Given the description of an element on the screen output the (x, y) to click on. 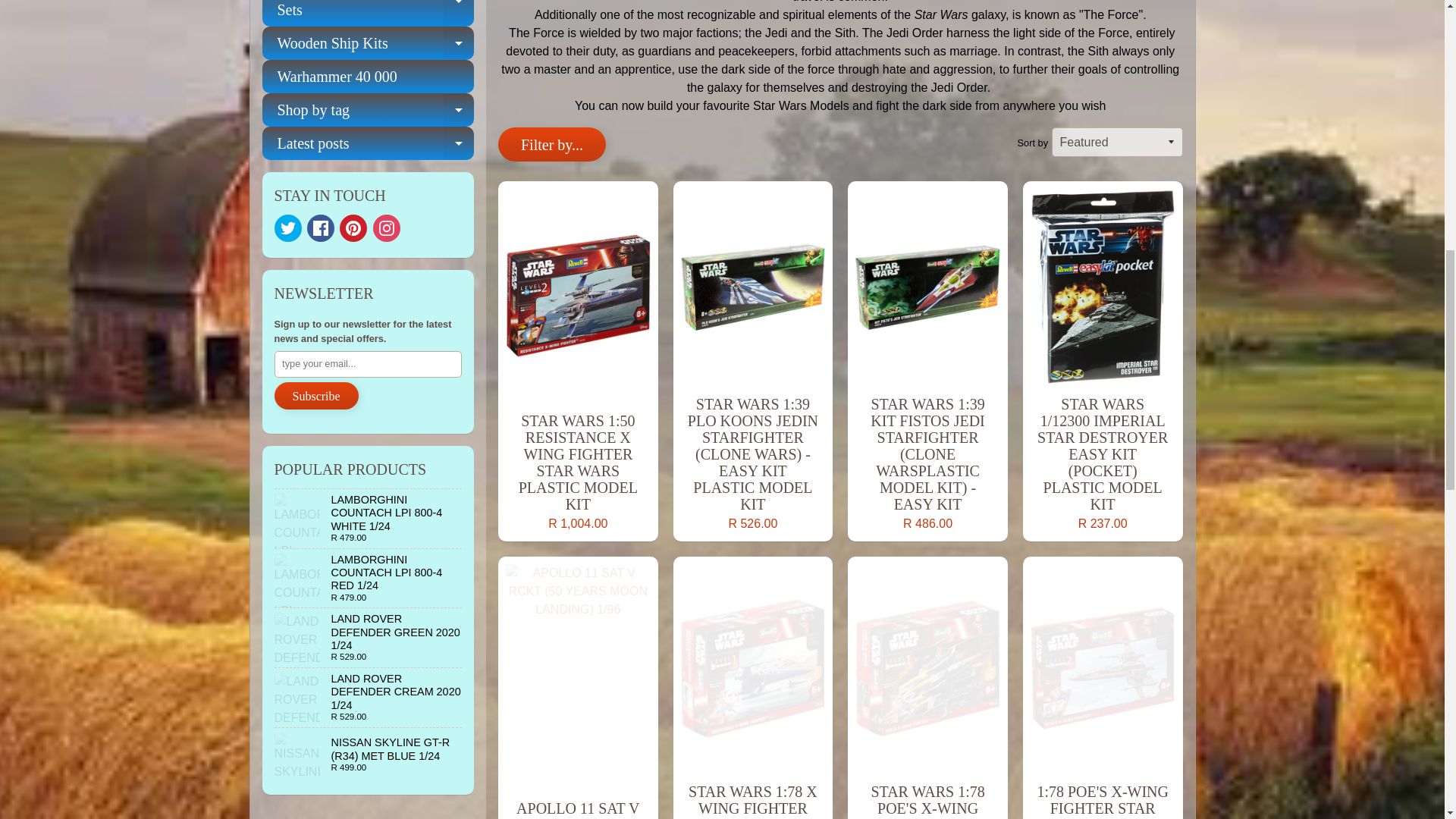
Twitter (288, 227)
Instagram (386, 227)
Facebook (320, 227)
Pinterest (352, 227)
